Given the description of an element on the screen output the (x, y) to click on. 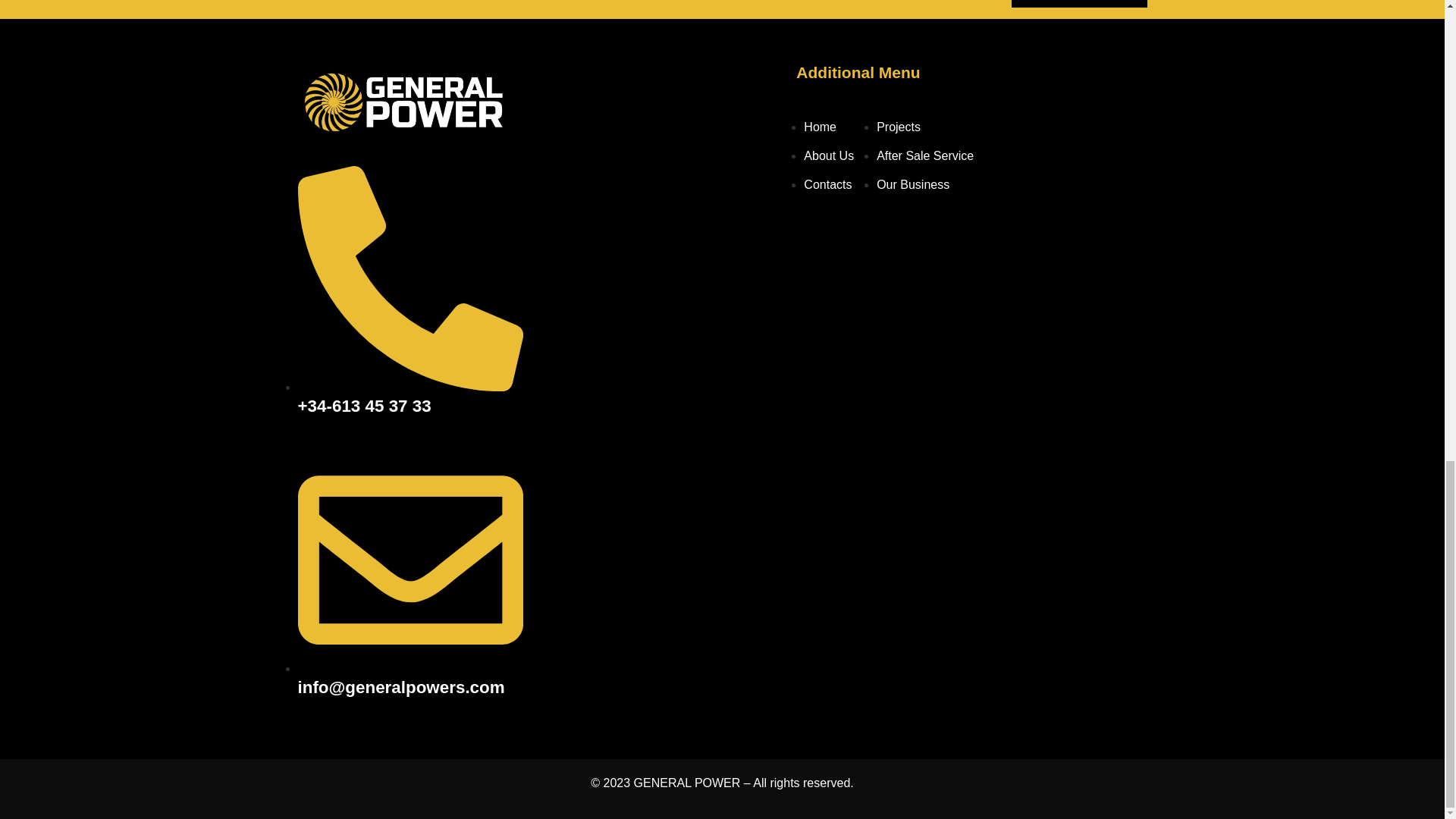
Projects (898, 126)
Home (819, 126)
After Sale Service (925, 155)
Get a Quote (1079, 3)
About Us (828, 155)
Contacts (827, 184)
Our Business (912, 184)
